Given the description of an element on the screen output the (x, y) to click on. 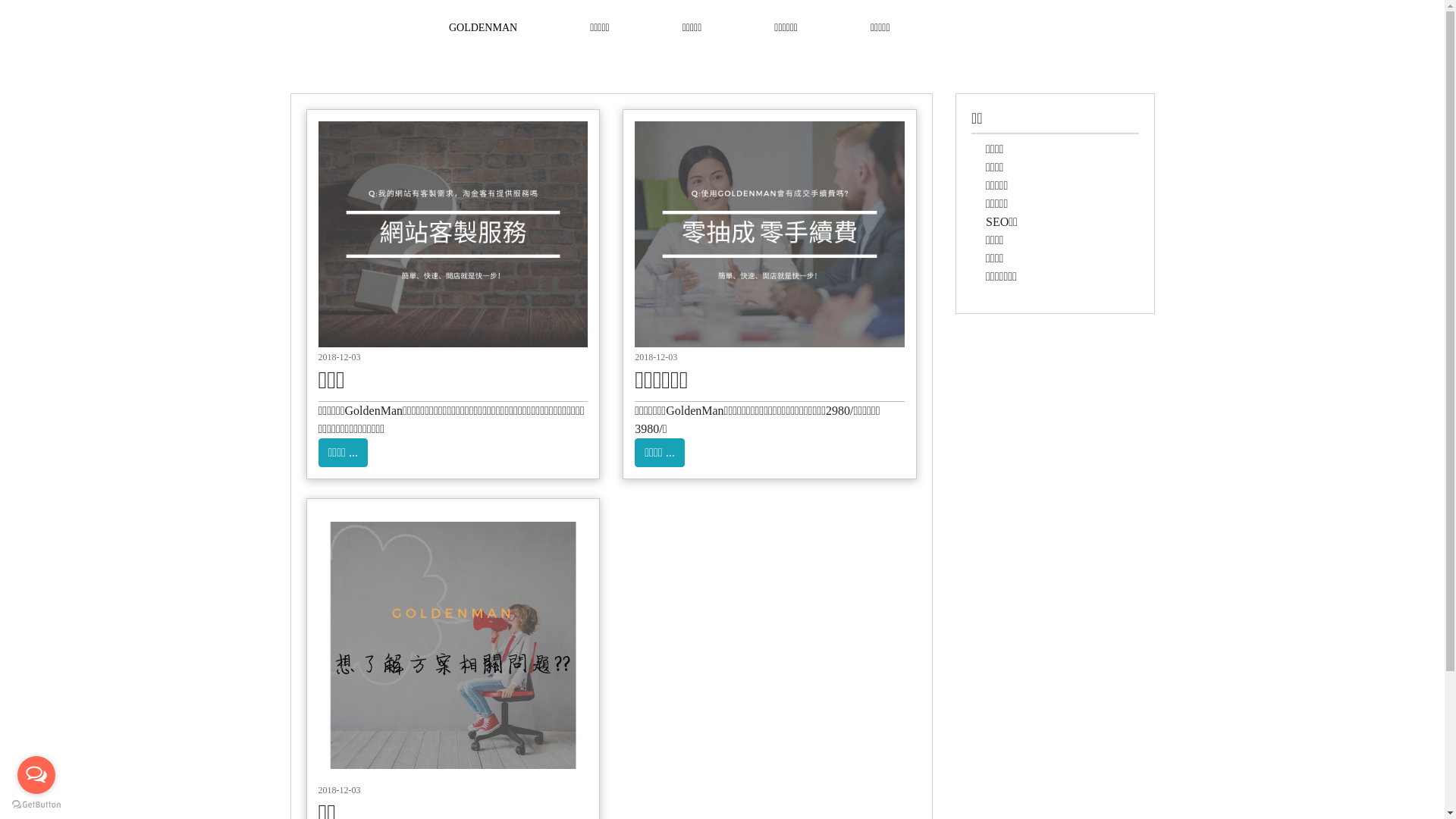
GOLDENMAN Element type: text (482, 27)
